Given the description of an element on the screen output the (x, y) to click on. 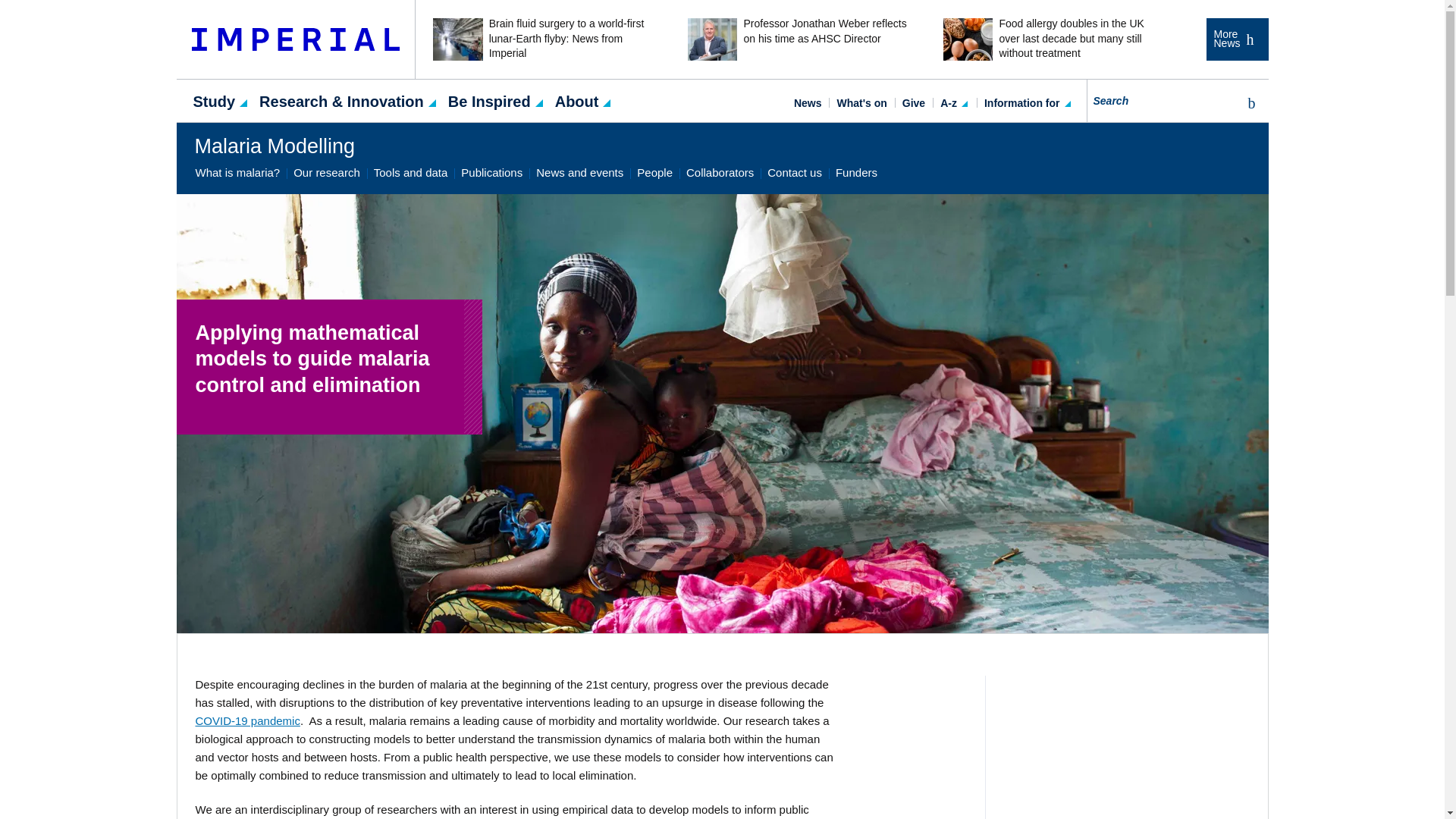
Search for... (1177, 100)
Search (1249, 102)
Study (213, 100)
More News (1236, 39)
Imperial College London Home (295, 39)
Imperial College London (295, 39)
